Given the description of an element on the screen output the (x, y) to click on. 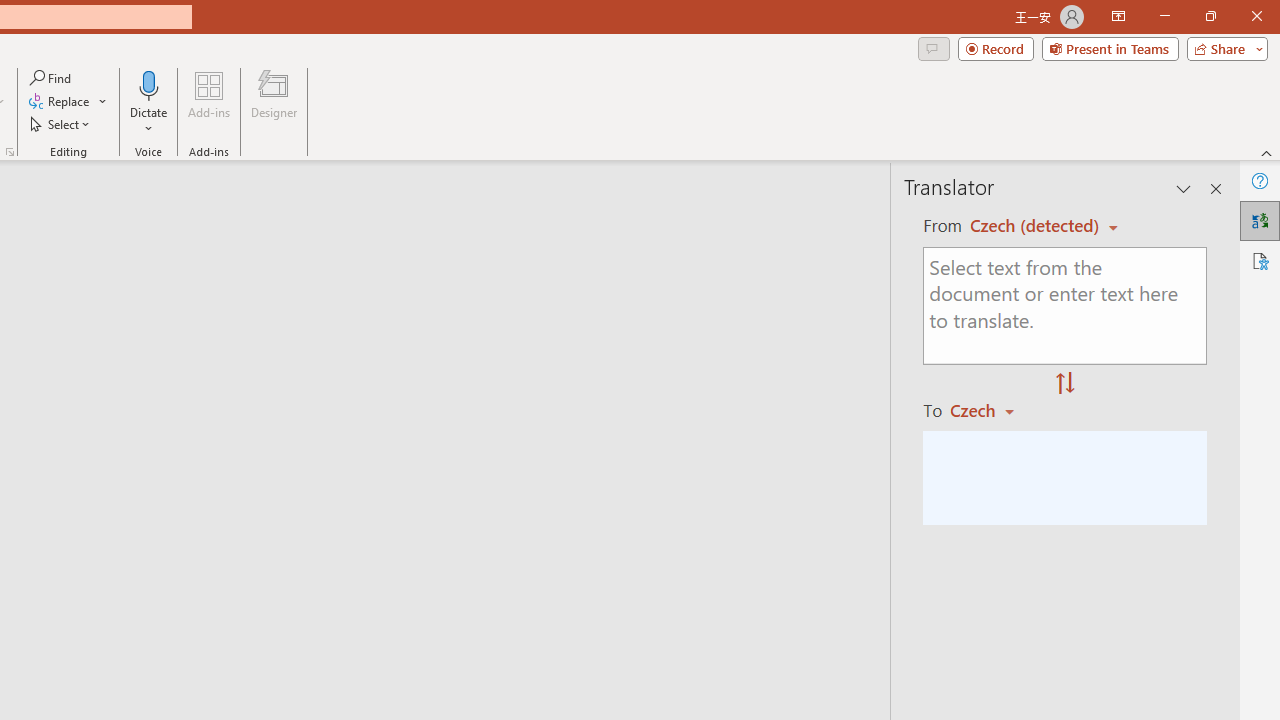
Czech (detected) (1037, 225)
Swap "from" and "to" languages. (1065, 383)
